Given the description of an element on the screen output the (x, y) to click on. 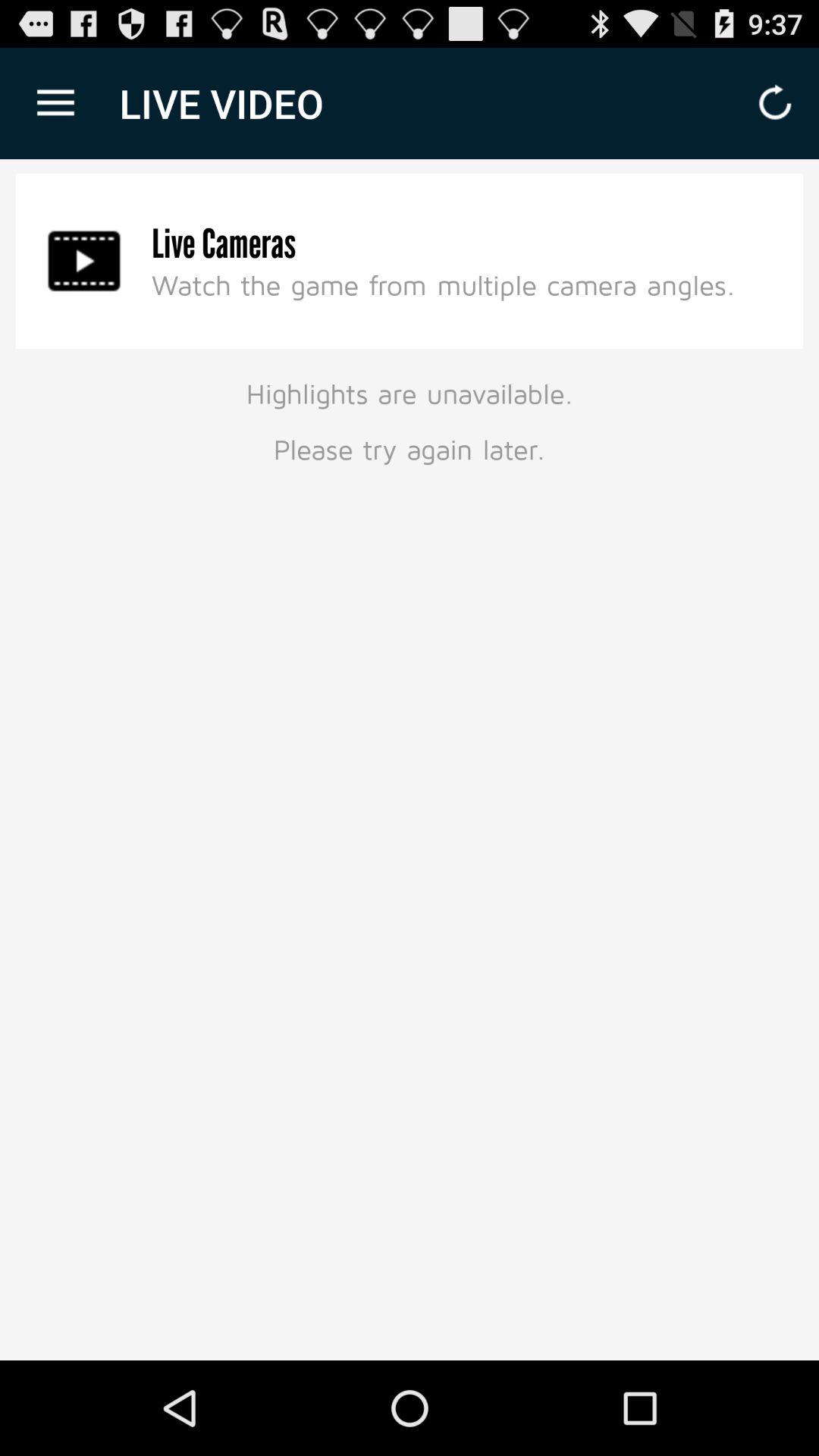
open highlights are unavailable (409, 419)
